Given the description of an element on the screen output the (x, y) to click on. 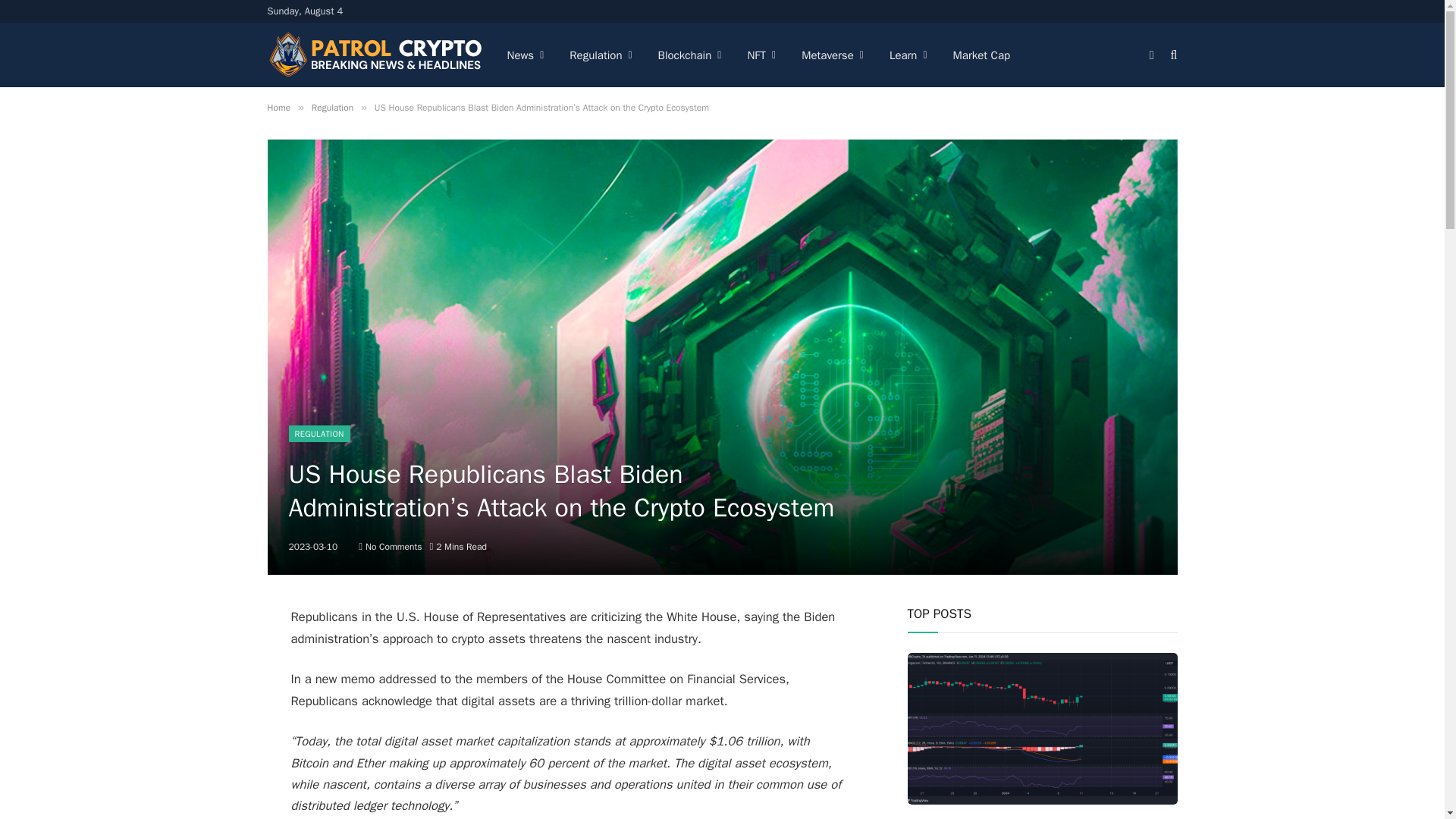
Regulation (600, 54)
Blockchain (690, 54)
News (526, 54)
Patrol Crypto (373, 54)
